Given the description of an element on the screen output the (x, y) to click on. 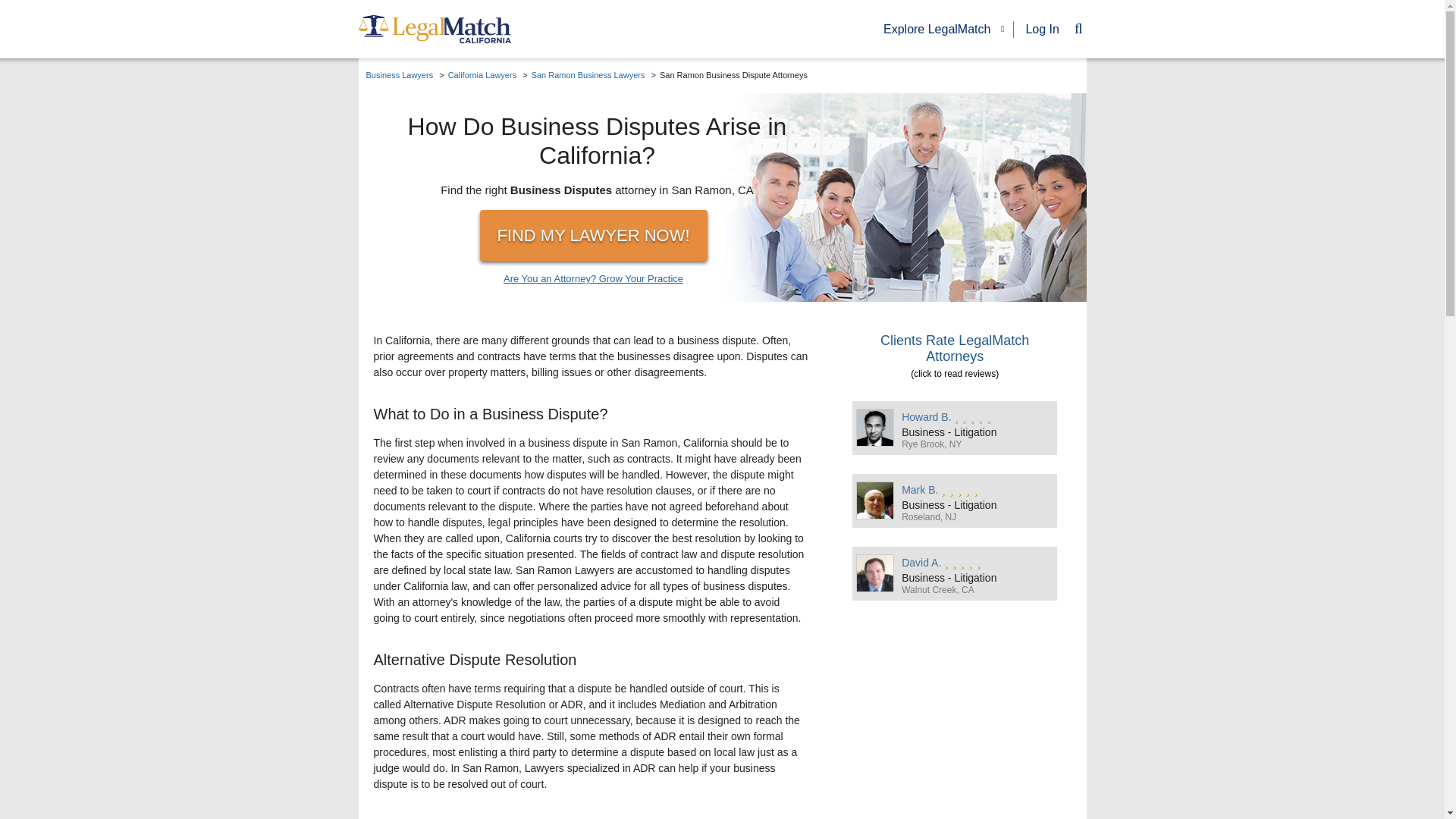
Log In (1041, 29)
